Given the description of an element on the screen output the (x, y) to click on. 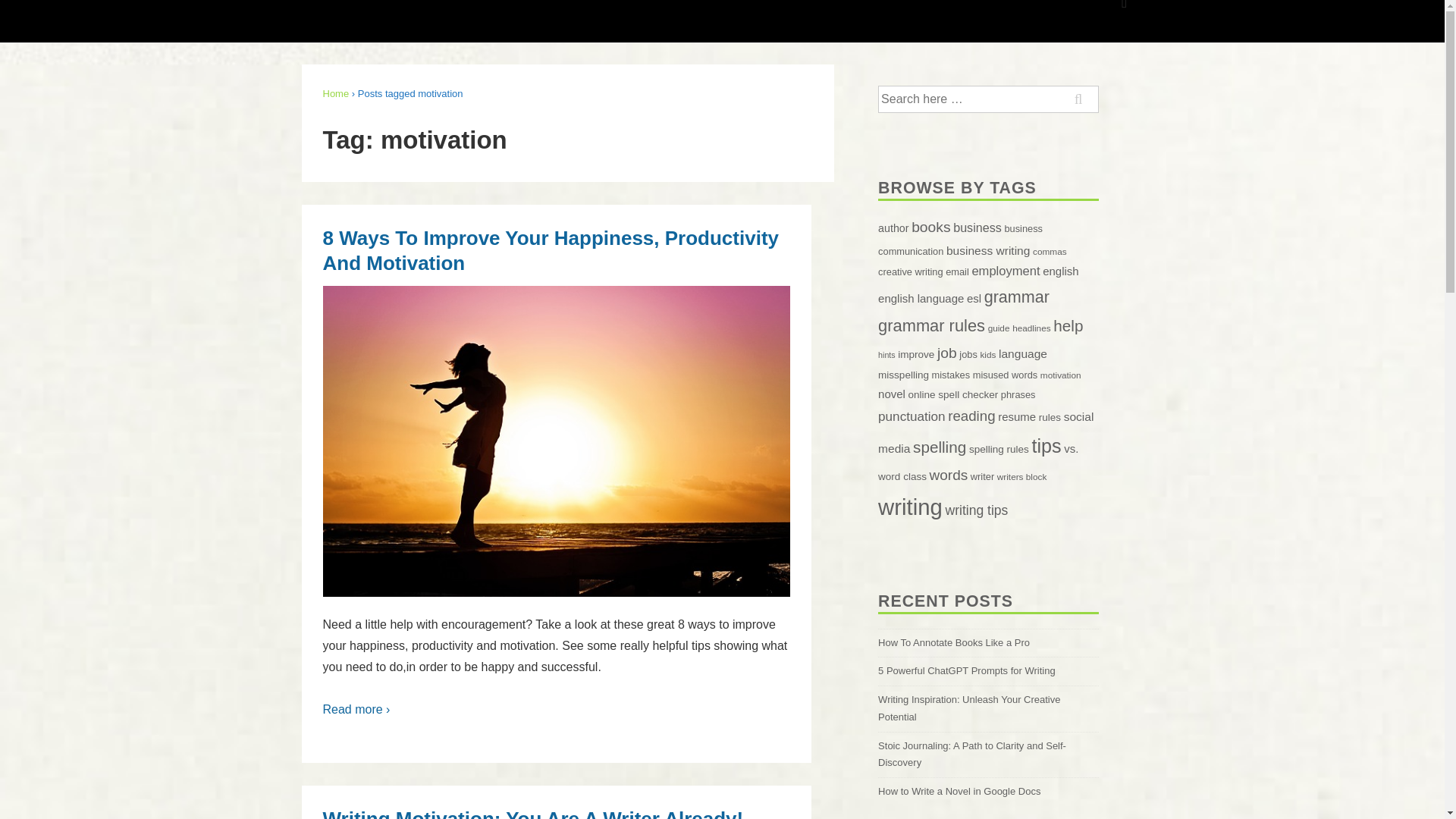
author (892, 227)
english (1060, 270)
books (930, 227)
employment (1005, 270)
english language (920, 297)
business (977, 227)
email (956, 271)
commas (1049, 251)
esl (973, 297)
